Given the description of an element on the screen output the (x, y) to click on. 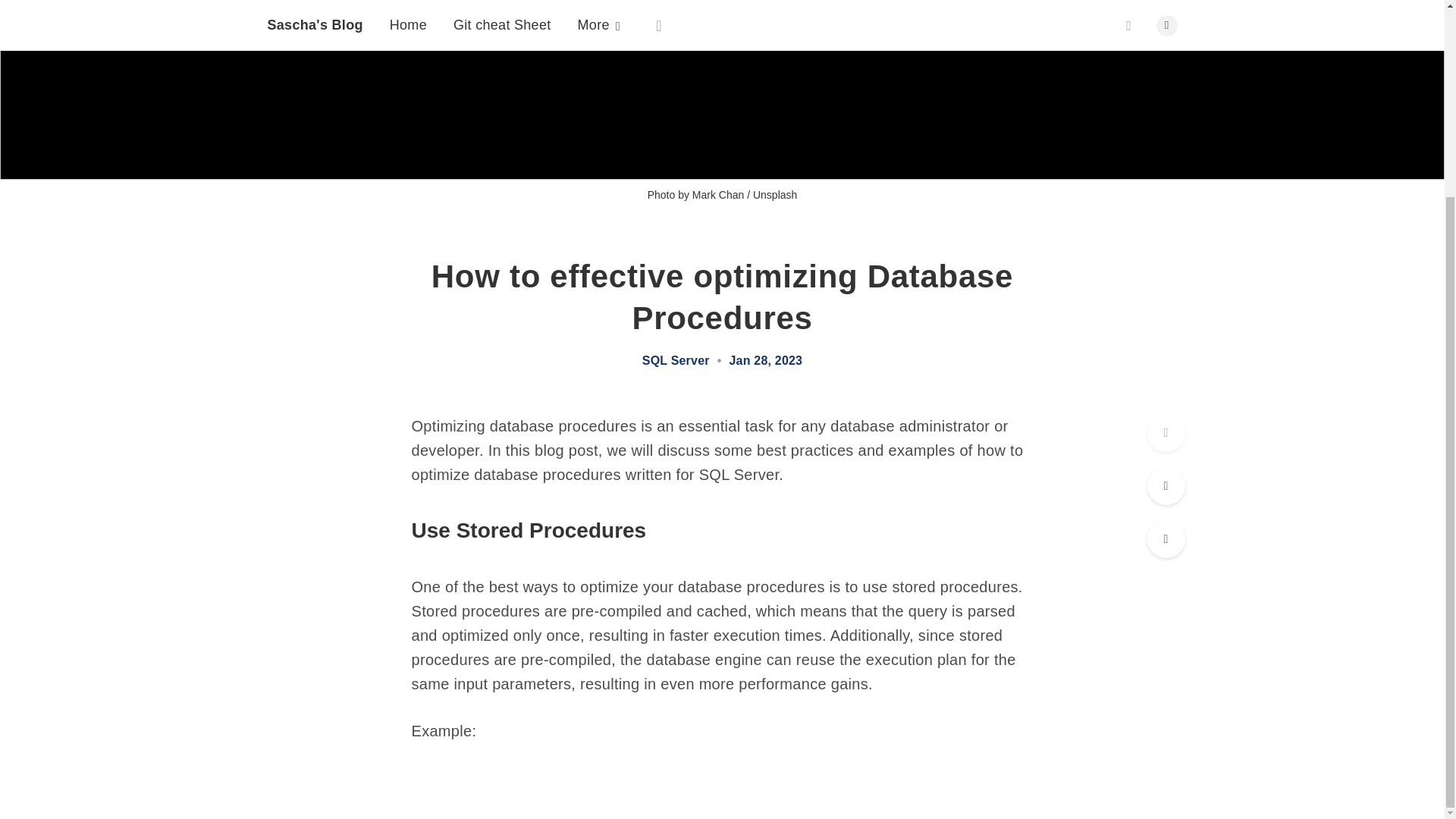
Unsplash (774, 194)
SQL Server (676, 360)
Mark Chan (718, 194)
